Given the description of an element on the screen output the (x, y) to click on. 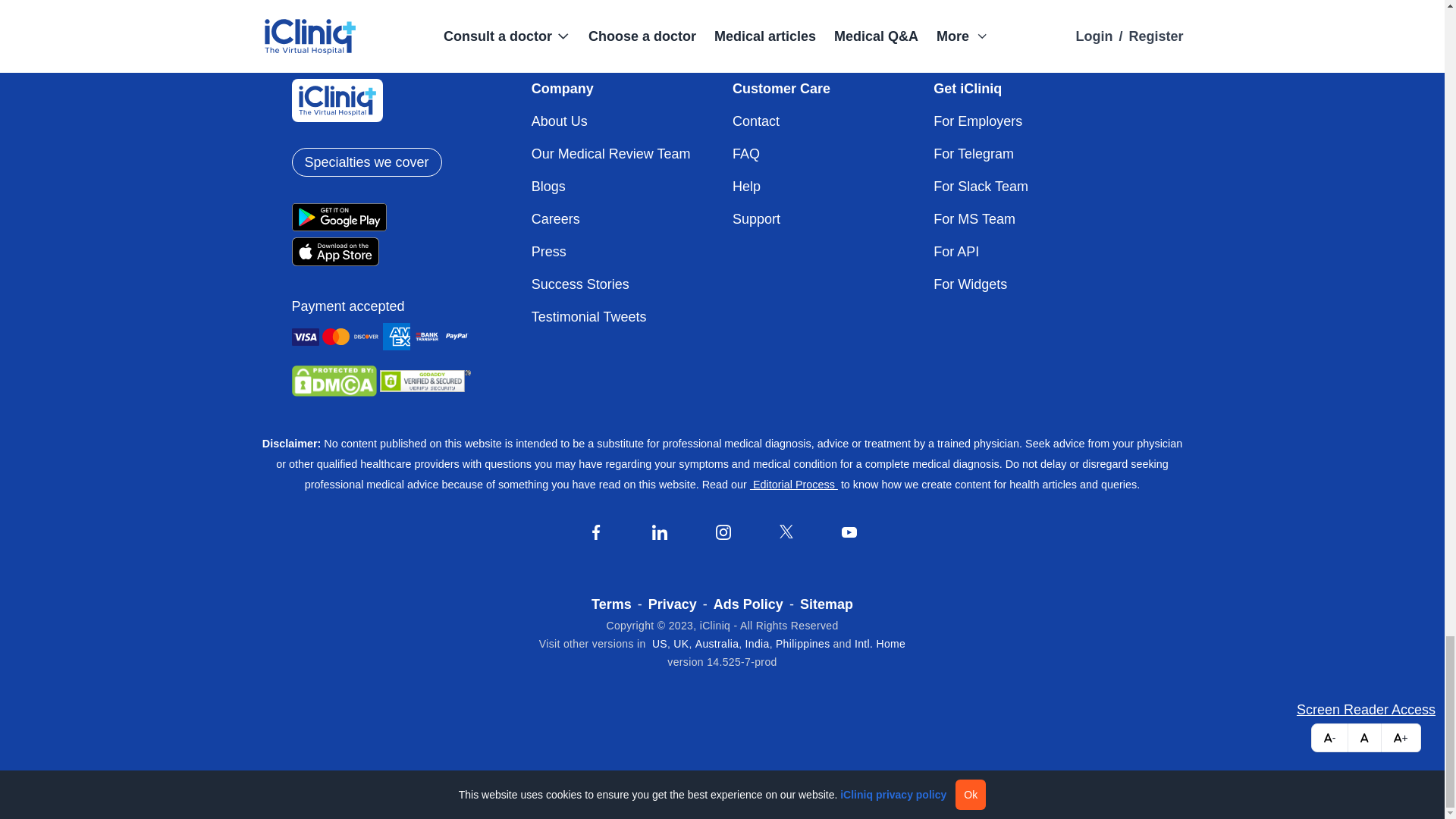
twitter (785, 531)
iCliniq America (659, 644)
youtube (849, 531)
DMCA.com Protection Status (334, 380)
linkedin (659, 531)
iCliniq UK (680, 644)
iCliniq Australia (717, 644)
godaddy ssl seal (425, 381)
iCliniq Home (879, 644)
instagram (723, 531)
iCliniq India (757, 644)
facebook (596, 531)
iCliniq Philippines (802, 644)
